Given the description of an element on the screen output the (x, y) to click on. 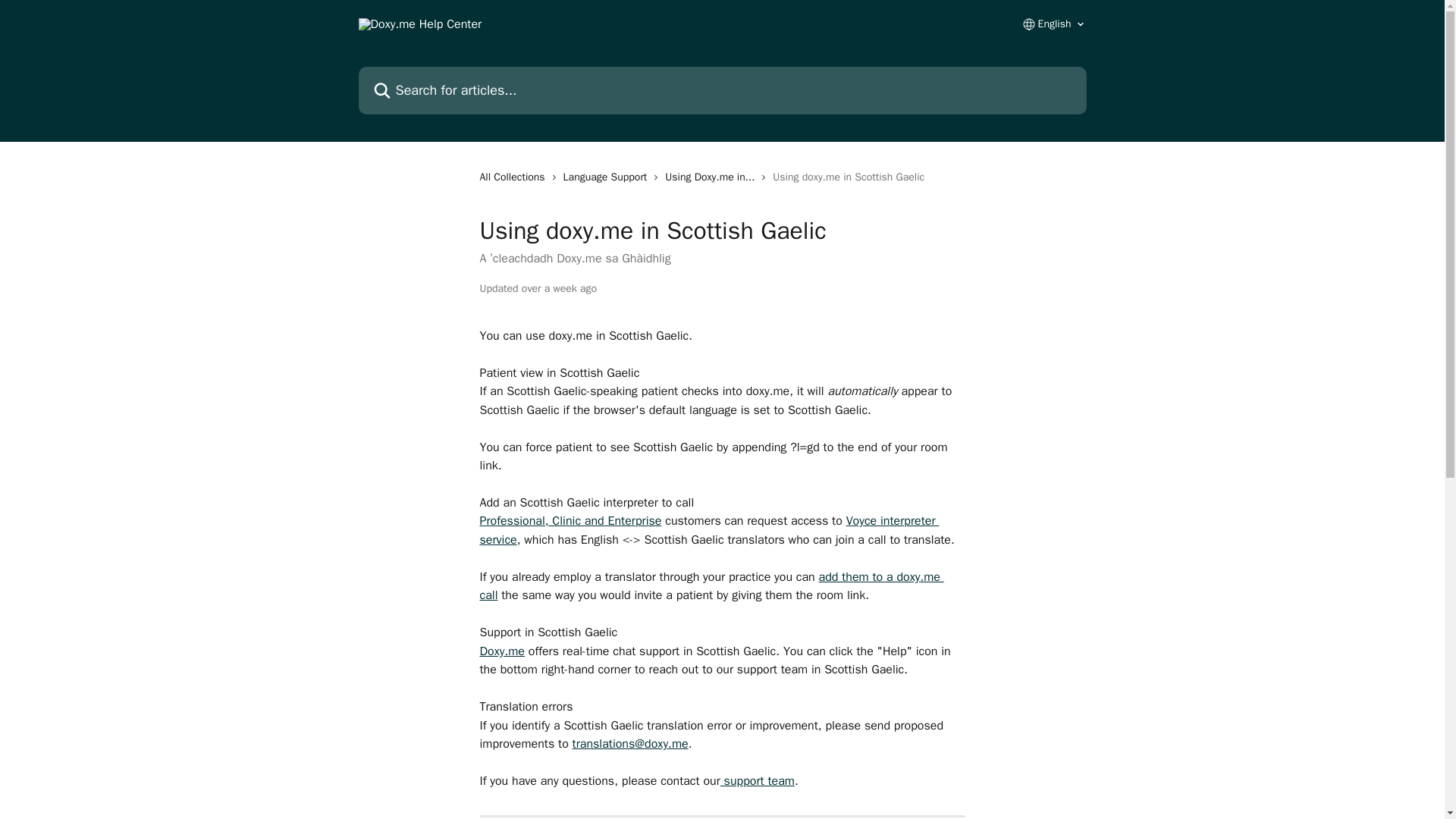
support team (757, 780)
Doxy.me (501, 651)
Language Support (608, 176)
Professional, Clinic and Enterprise (570, 520)
All Collections (514, 176)
Using Doxy.me in... (712, 176)
add them to a doxy.me call (711, 585)
Voyce interpreter service (709, 530)
